Given the description of an element on the screen output the (x, y) to click on. 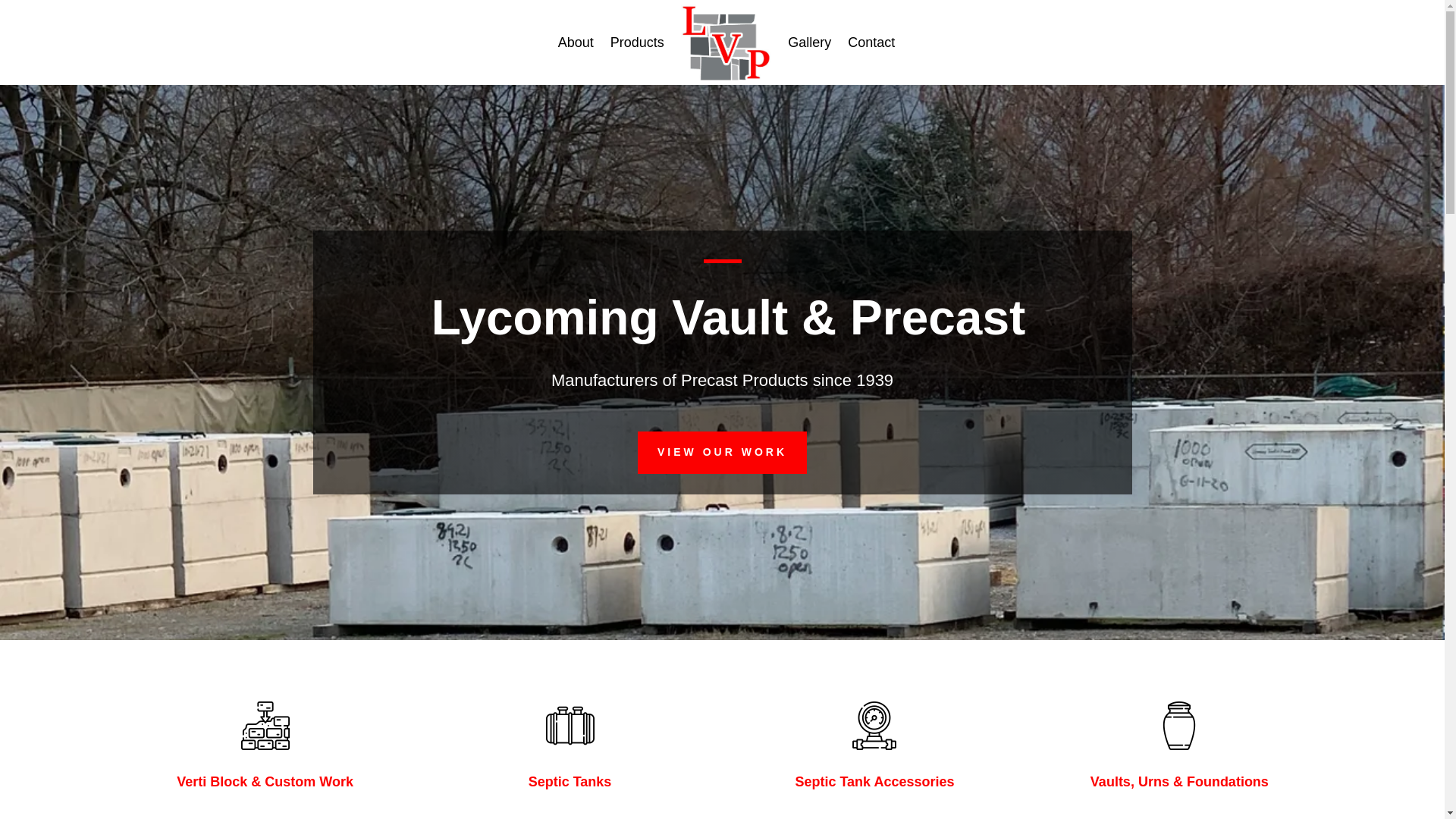
Gallery (809, 42)
About (575, 42)
Septic Tanks (569, 781)
Contact (871, 42)
VIEW OUR WORK (721, 452)
Septic Tank Accessories (873, 781)
Products (636, 42)
